Given the description of an element on the screen output the (x, y) to click on. 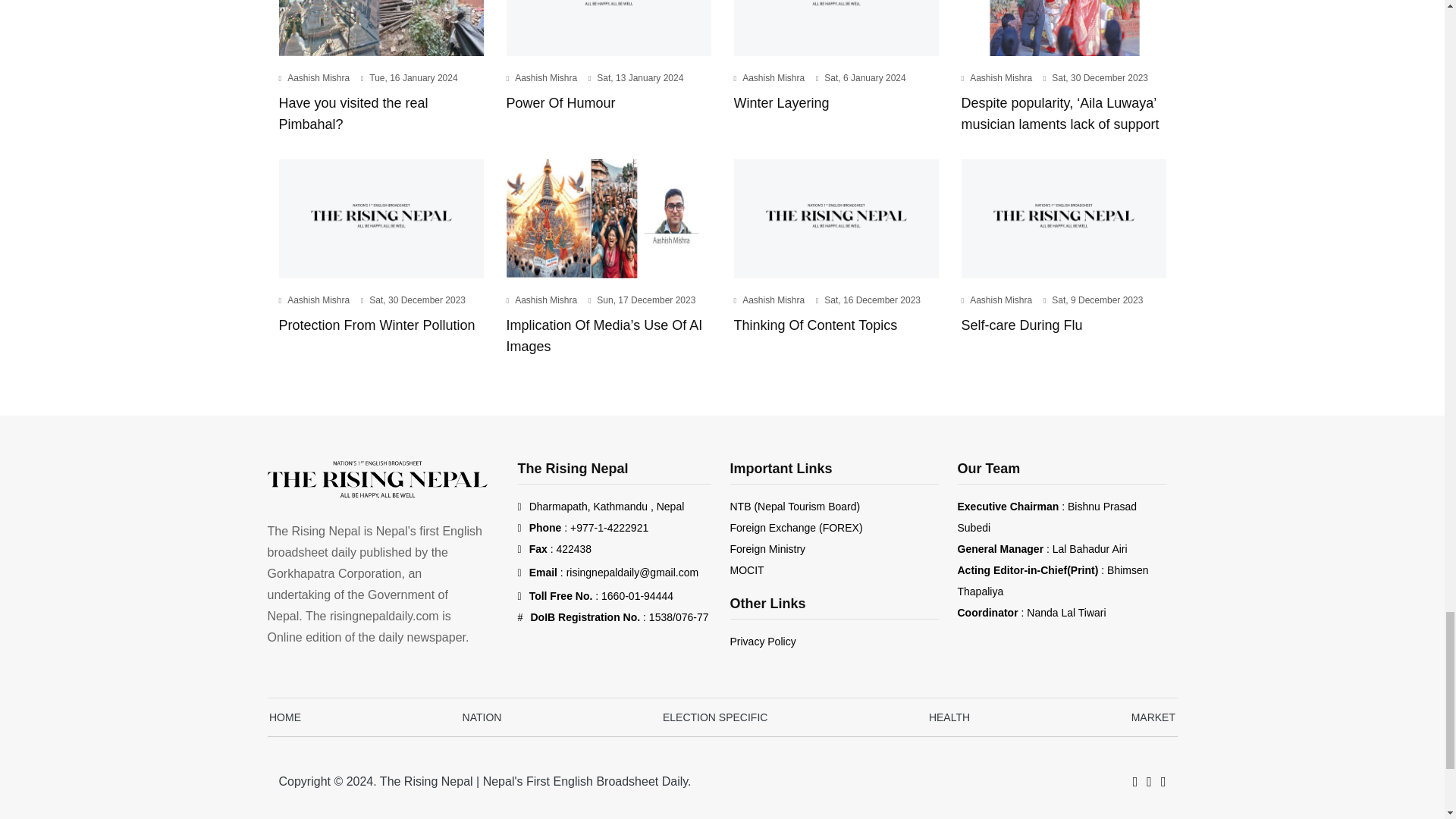
Suchana tahtaa sanchaar mantralya (745, 570)
